Given the description of an element on the screen output the (x, y) to click on. 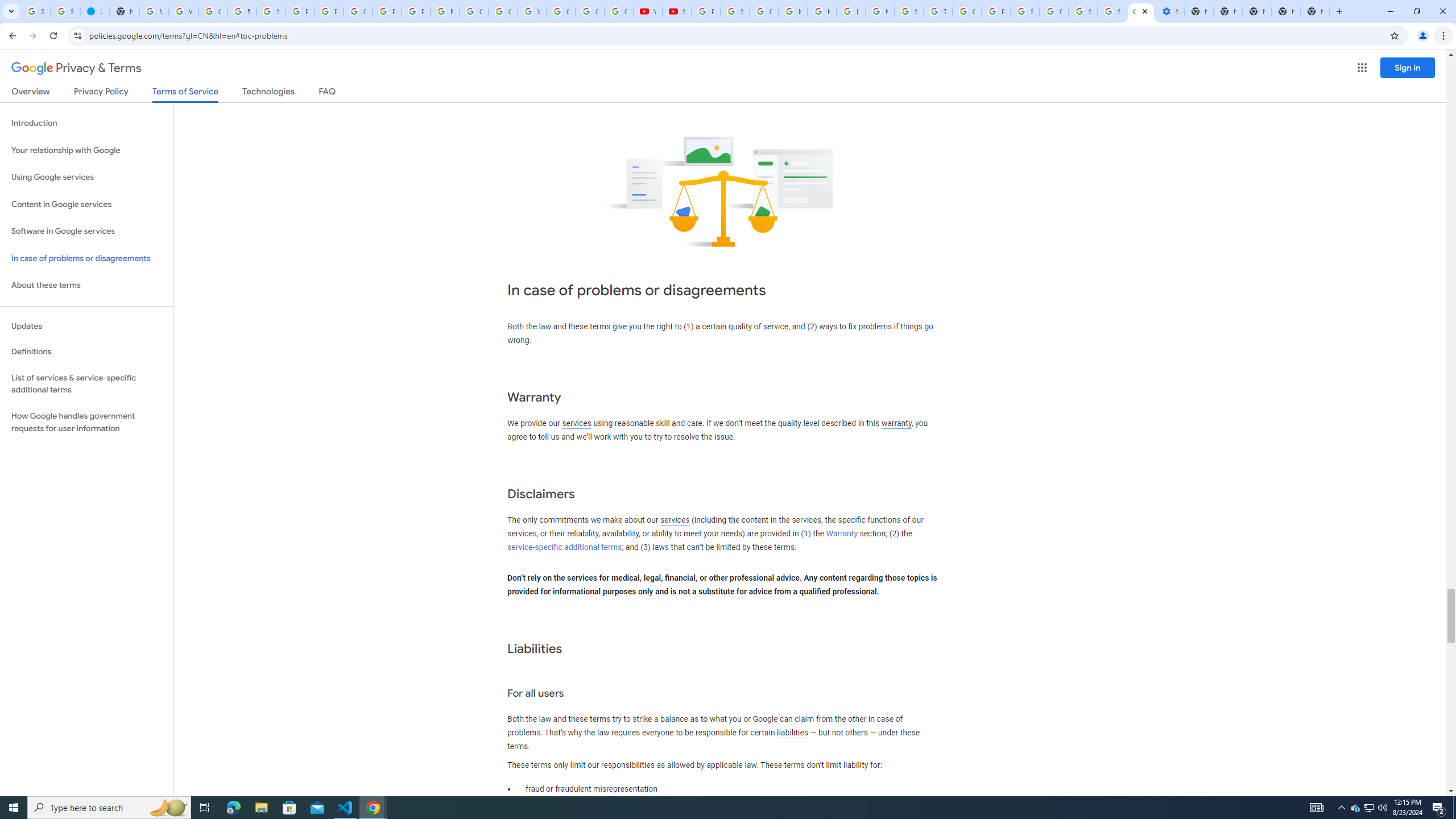
Search our Doodle Library Collection - Google Doodles (908, 11)
Who is my administrator? - Google Account Help (183, 11)
Warranty (841, 533)
Edit and view right-to-left text - Google Docs Editors Help (444, 11)
